Given the description of an element on the screen output the (x, y) to click on. 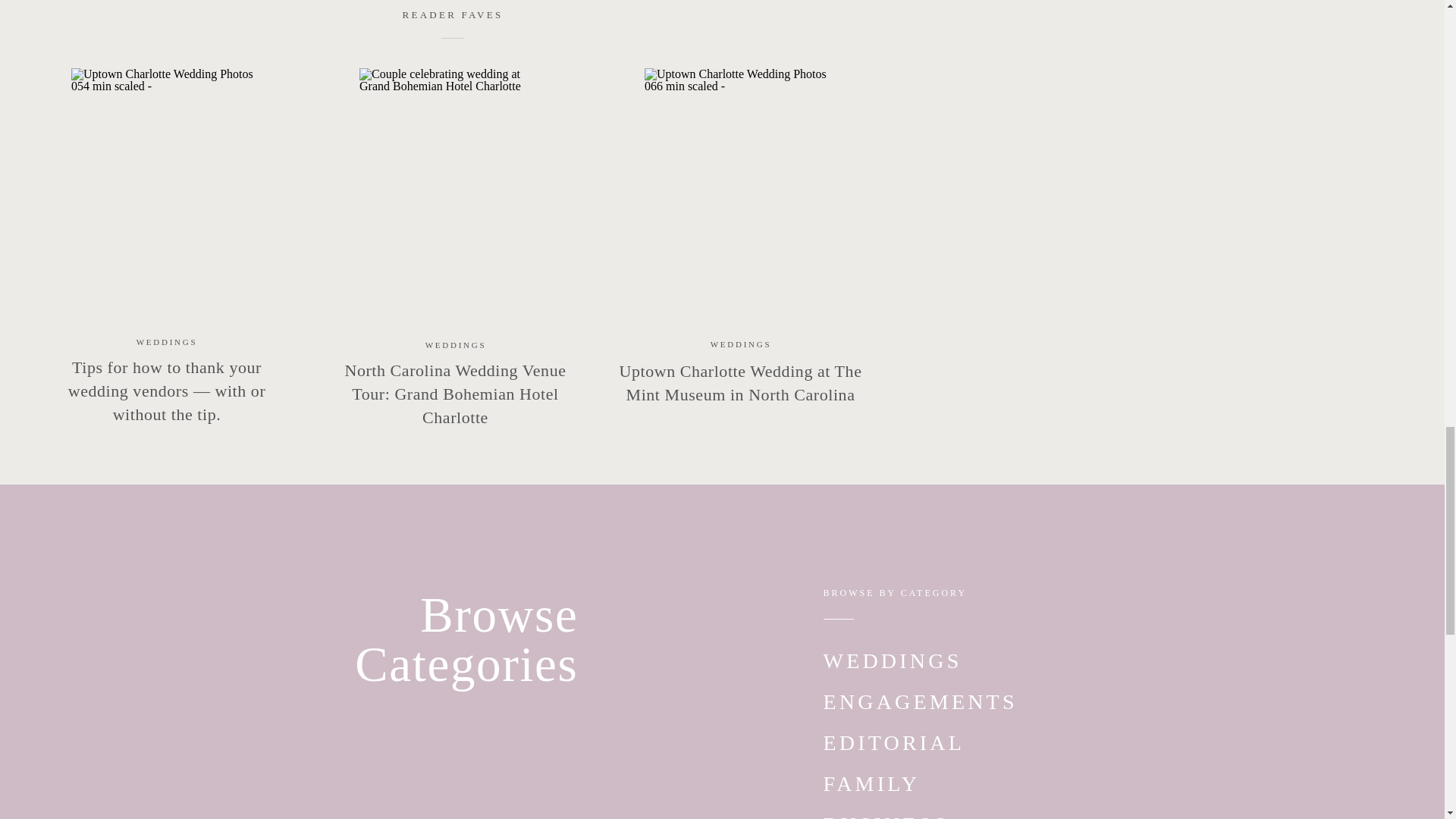
Claire Fedei Events (500, 224)
Wrinkled Blanket Media (458, 173)
Sunshower Photography (460, 156)
Surcie (505, 240)
The Pavilions at the Angus Barn (493, 190)
